Given the description of an element on the screen output the (x, y) to click on. 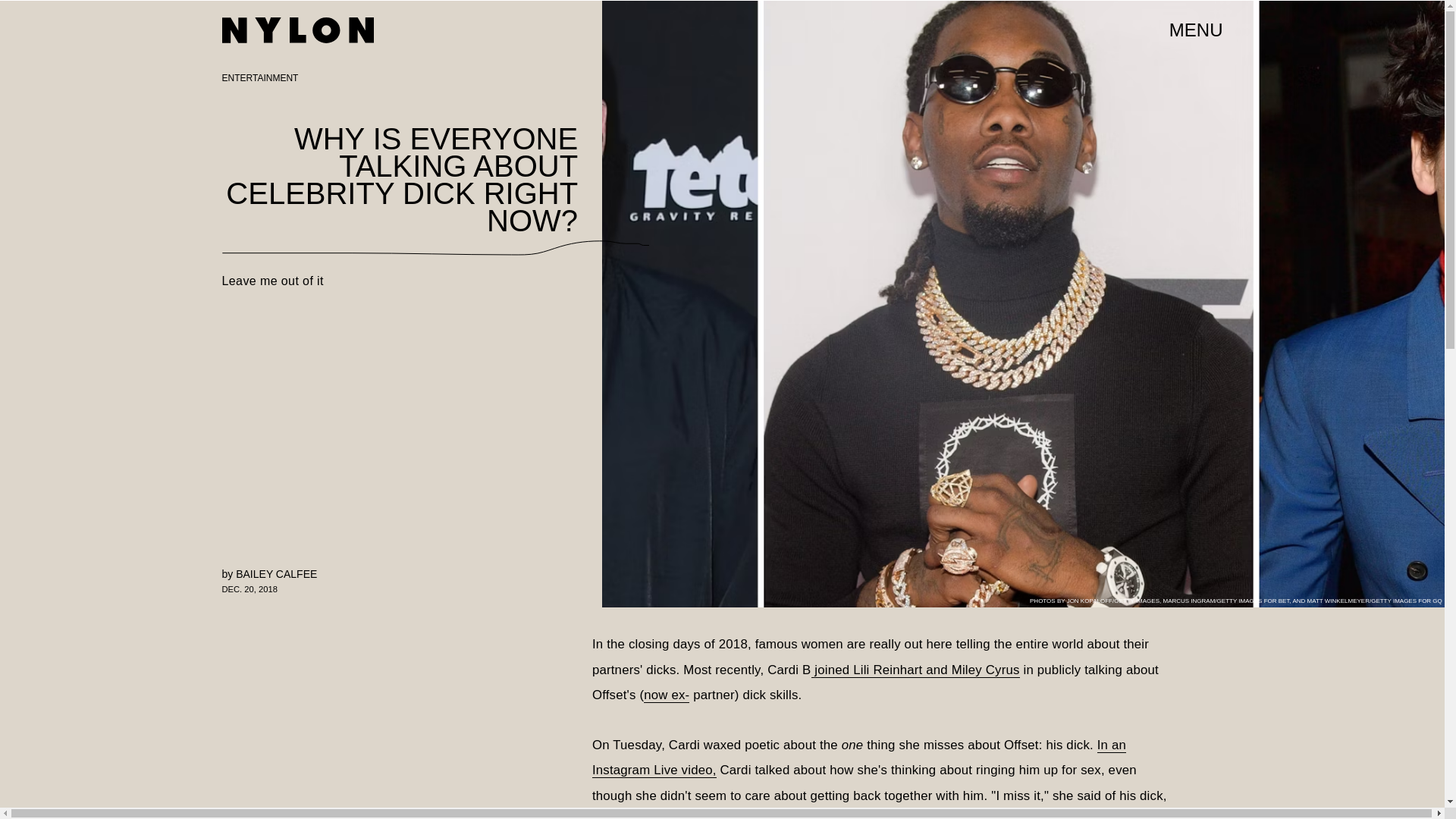
joined Lili Reinhart and Miley Cyrus (915, 670)
Nylon (296, 30)
now ex- (665, 694)
BAILEY CALFEE (276, 573)
In an Instagram Live video, (858, 757)
